Given the description of an element on the screen output the (x, y) to click on. 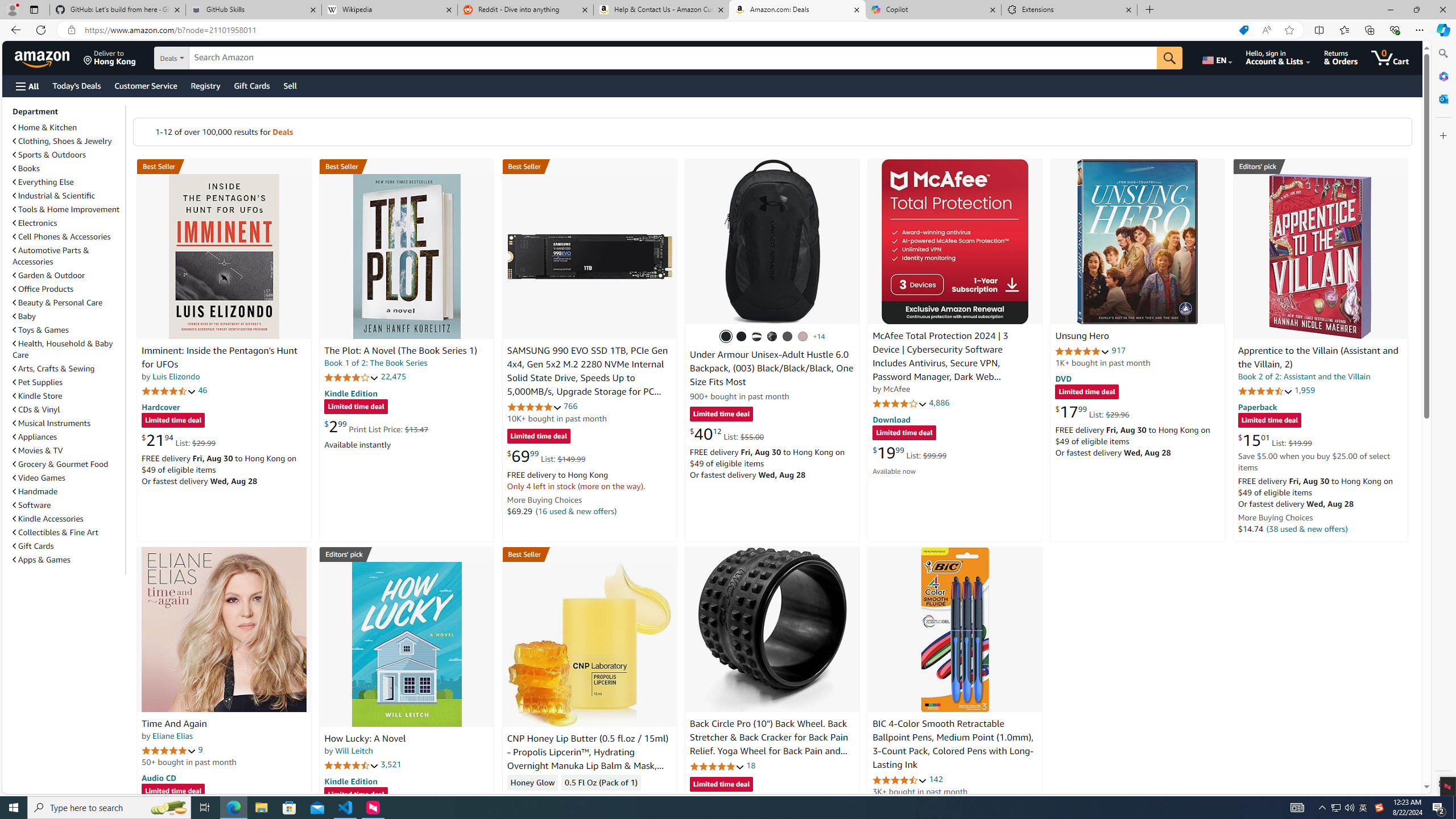
Gift Cards (33, 545)
Audio CD (158, 777)
Grocery & Gourmet Food (67, 464)
Skip to main content (48, 56)
Returns & Orders (1340, 57)
Best Seller in Lip Butters (589, 553)
18 (750, 764)
Luis Elizondo (175, 376)
Microsoft 365 (1442, 76)
Kindle Accessories (47, 518)
142 (935, 778)
$19.99 List: $99.99 (909, 452)
Read aloud this page (Ctrl+Shift+U) (1266, 29)
